Given the description of an element on the screen output the (x, y) to click on. 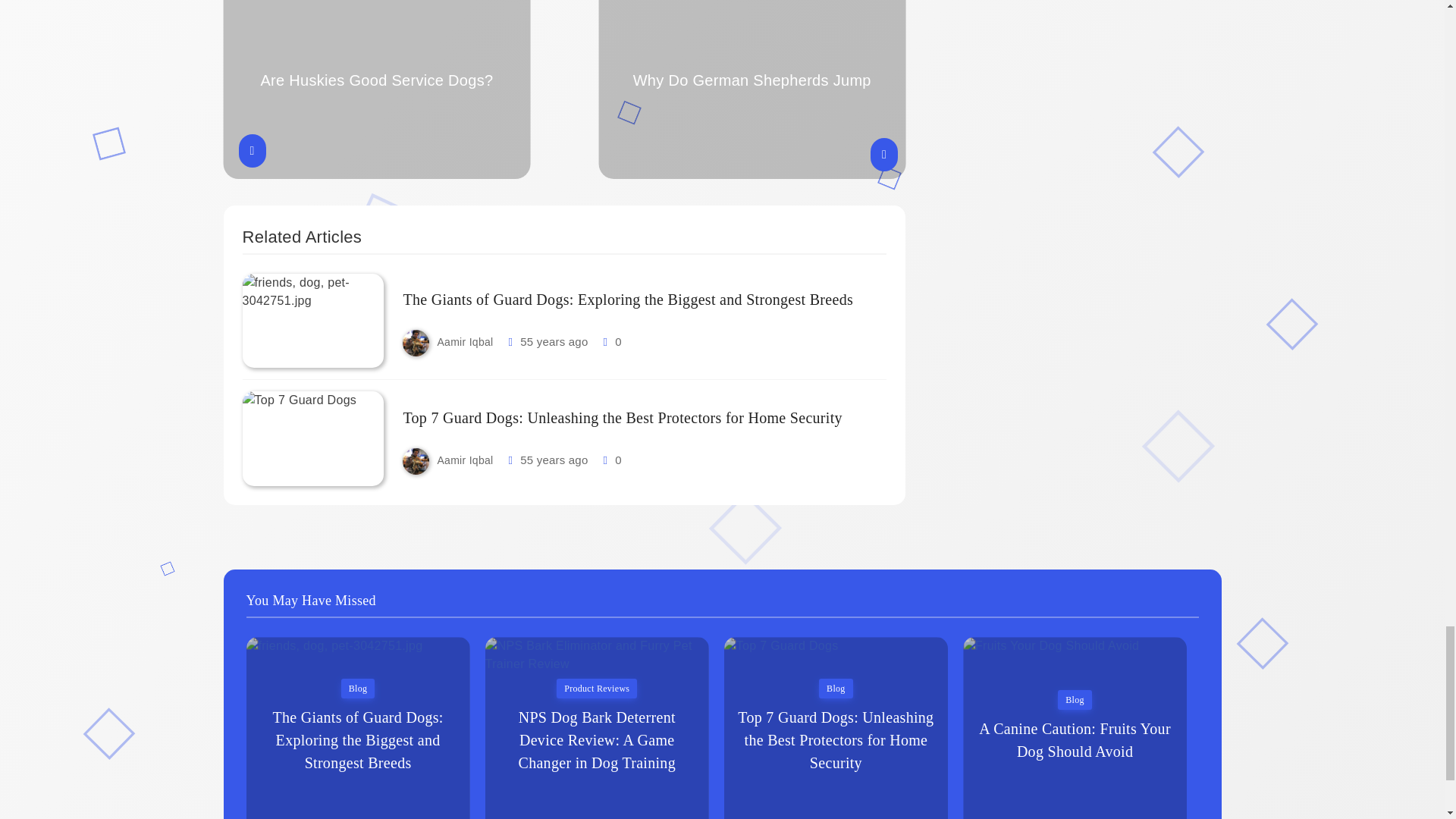
Are Huskies Good Service Dogs? (375, 89)
Aamir Iqbal (464, 341)
Why Do German Shepherds Jump (751, 89)
A Canine Caution: Fruits Your Dog Should Avoid 7 (1074, 728)
